Given the description of an element on the screen output the (x, y) to click on. 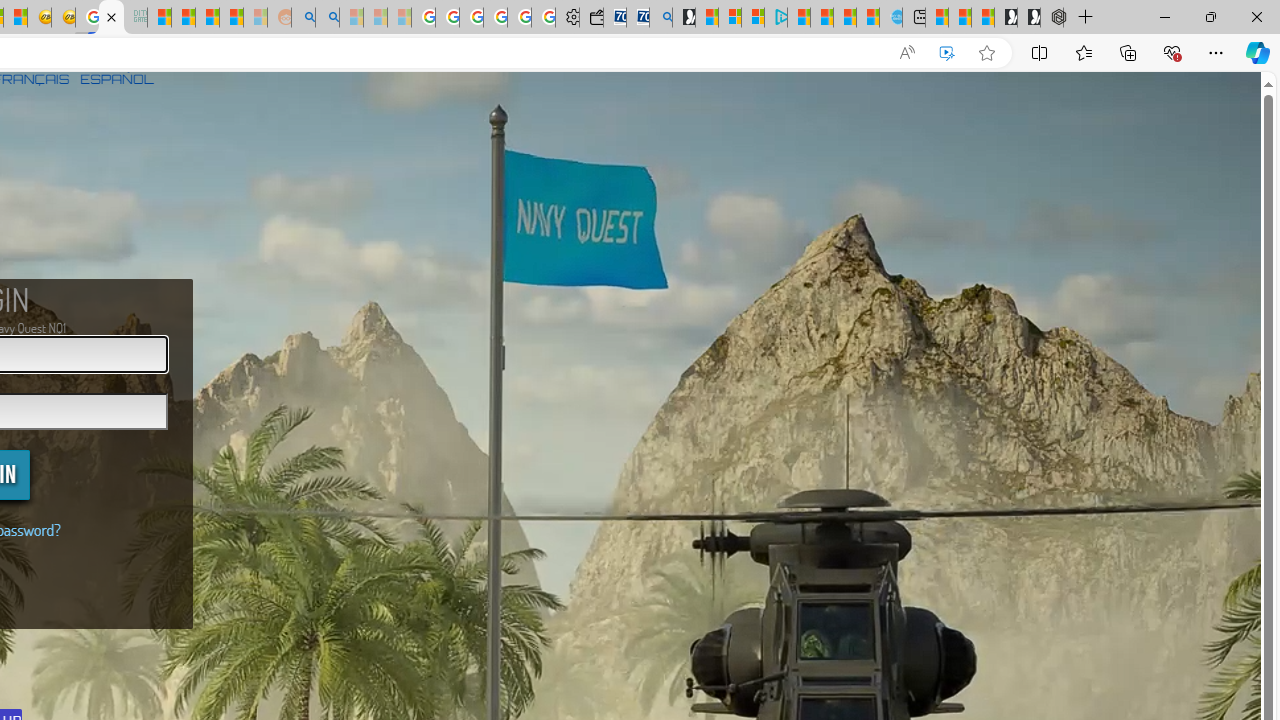
Wallet (590, 17)
